Given the description of an element on the screen output the (x, y) to click on. 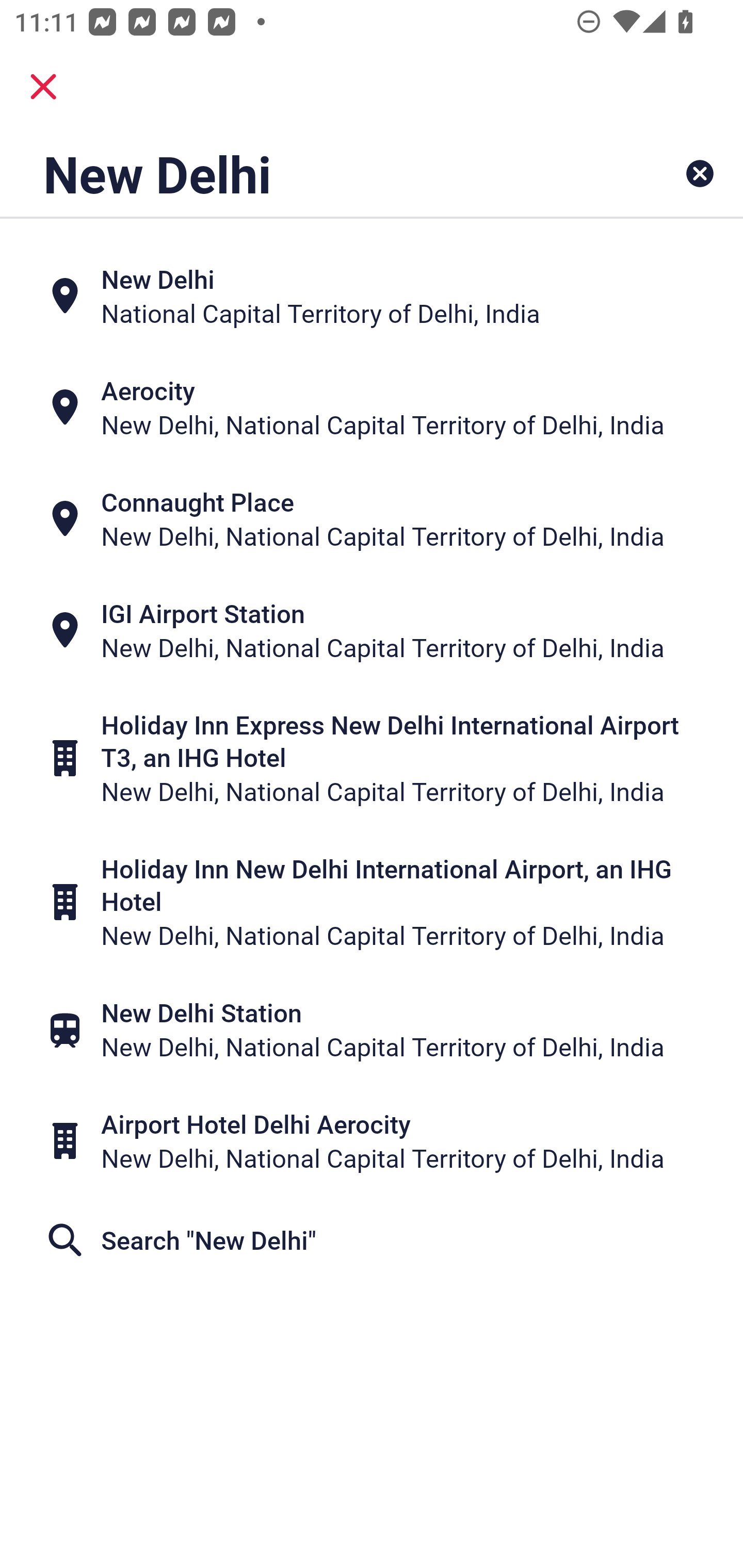
close. (43, 86)
Clear (699, 173)
New Delhi (306, 173)
Search "New Delhi" (371, 1239)
